Given the description of an element on the screen output the (x, y) to click on. 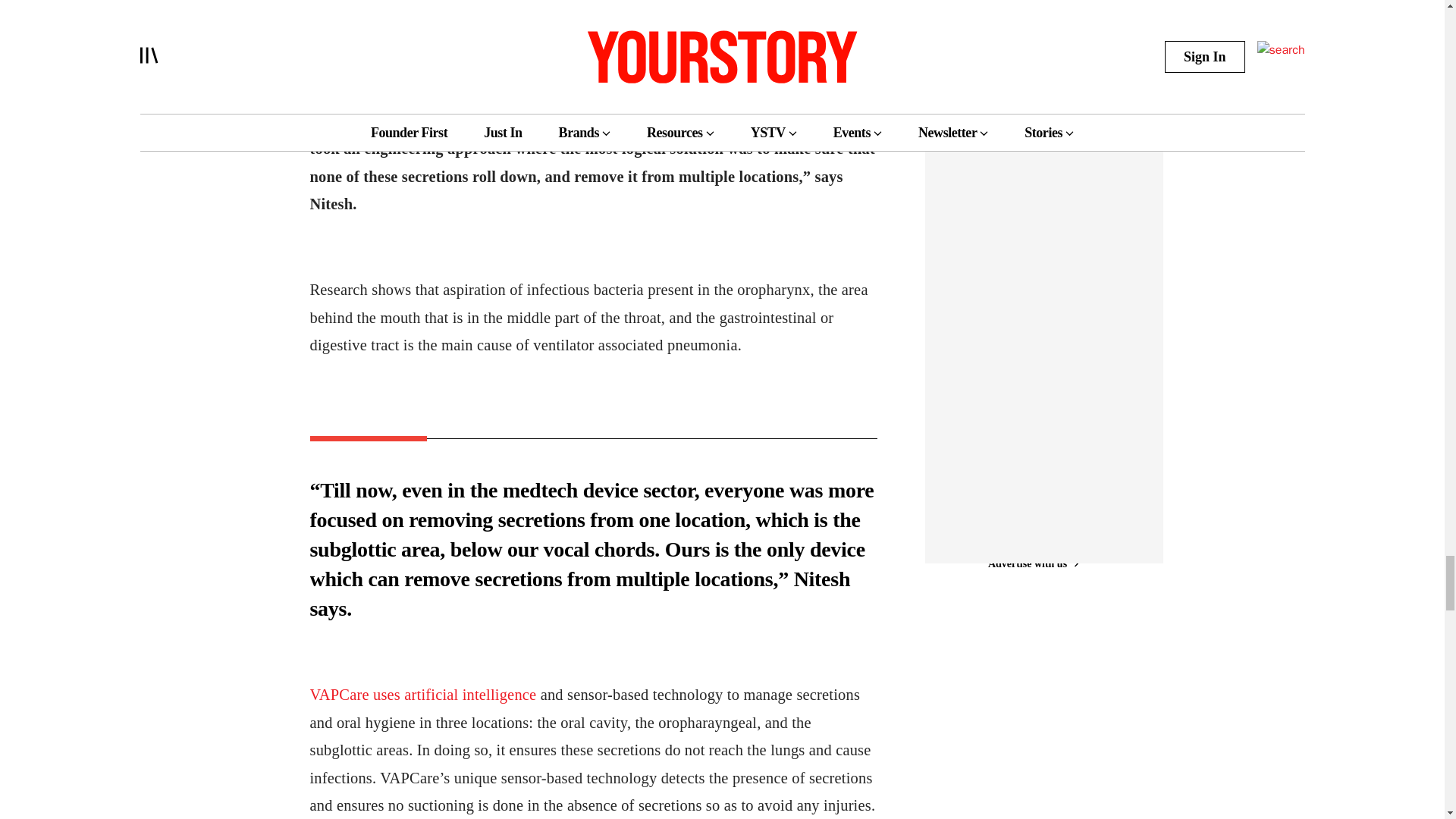
VAPCare uses artificial intelligence (424, 694)
